Given the description of an element on the screen output the (x, y) to click on. 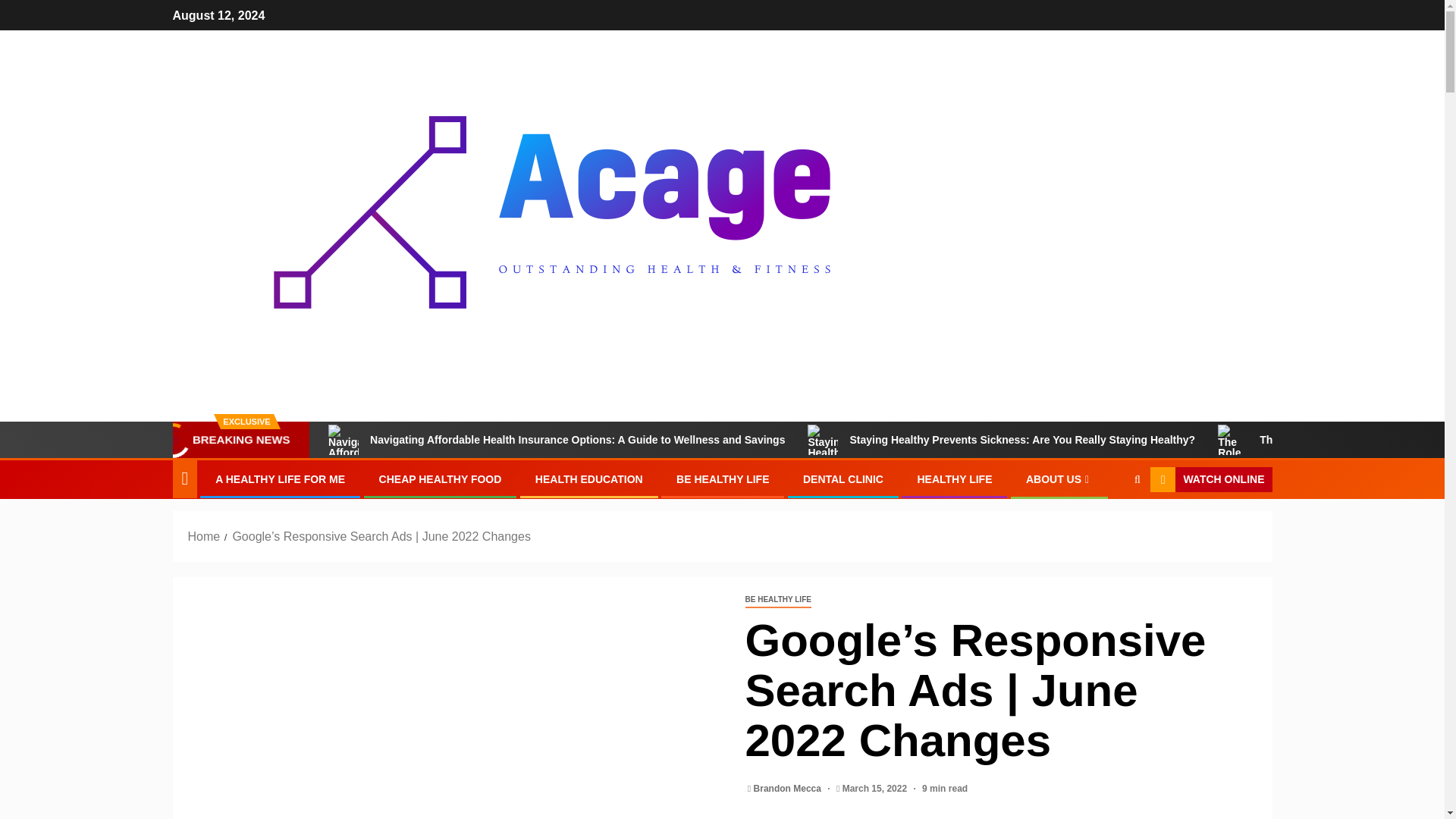
BE HEALTHY LIFE (777, 600)
DENTAL CLINIC (843, 479)
Search (1107, 525)
WATCH ONLINE (1210, 479)
ABOUT US (1059, 479)
Brandon Mecca (789, 787)
BE HEALTHY LIFE (722, 479)
Home (204, 535)
